Given the description of an element on the screen output the (x, y) to click on. 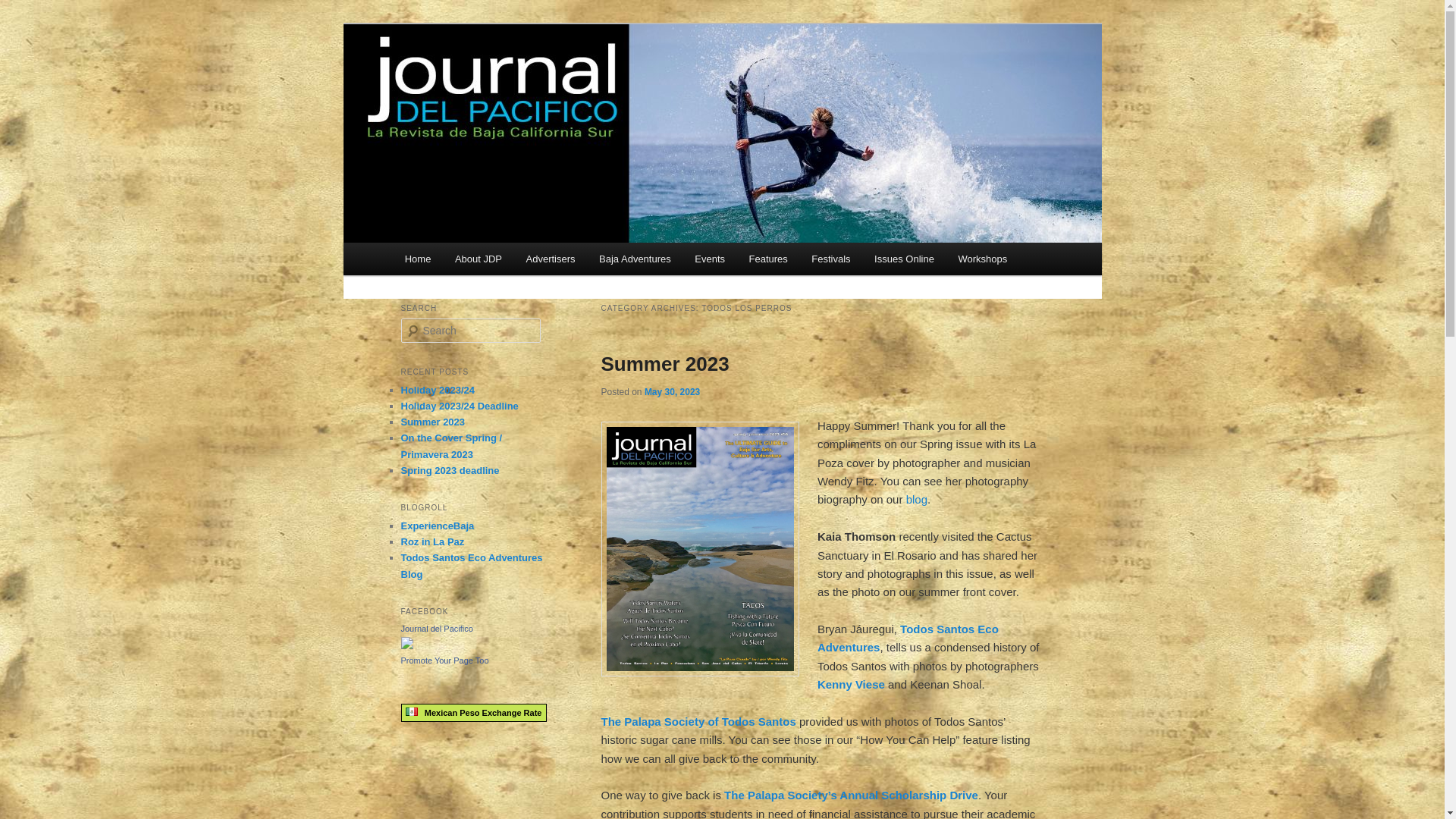
Advertisers (550, 258)
Journal del Pacifico (406, 645)
Mexican Peso Exchange Rate (473, 712)
Journal del Pacifico (507, 78)
Make your own badge! (443, 660)
Journal del Pacifico (507, 78)
11:07 am (672, 391)
Journal del Pacifico (435, 628)
Posts from a Pacific Paradise (470, 565)
